Given the description of an element on the screen output the (x, y) to click on. 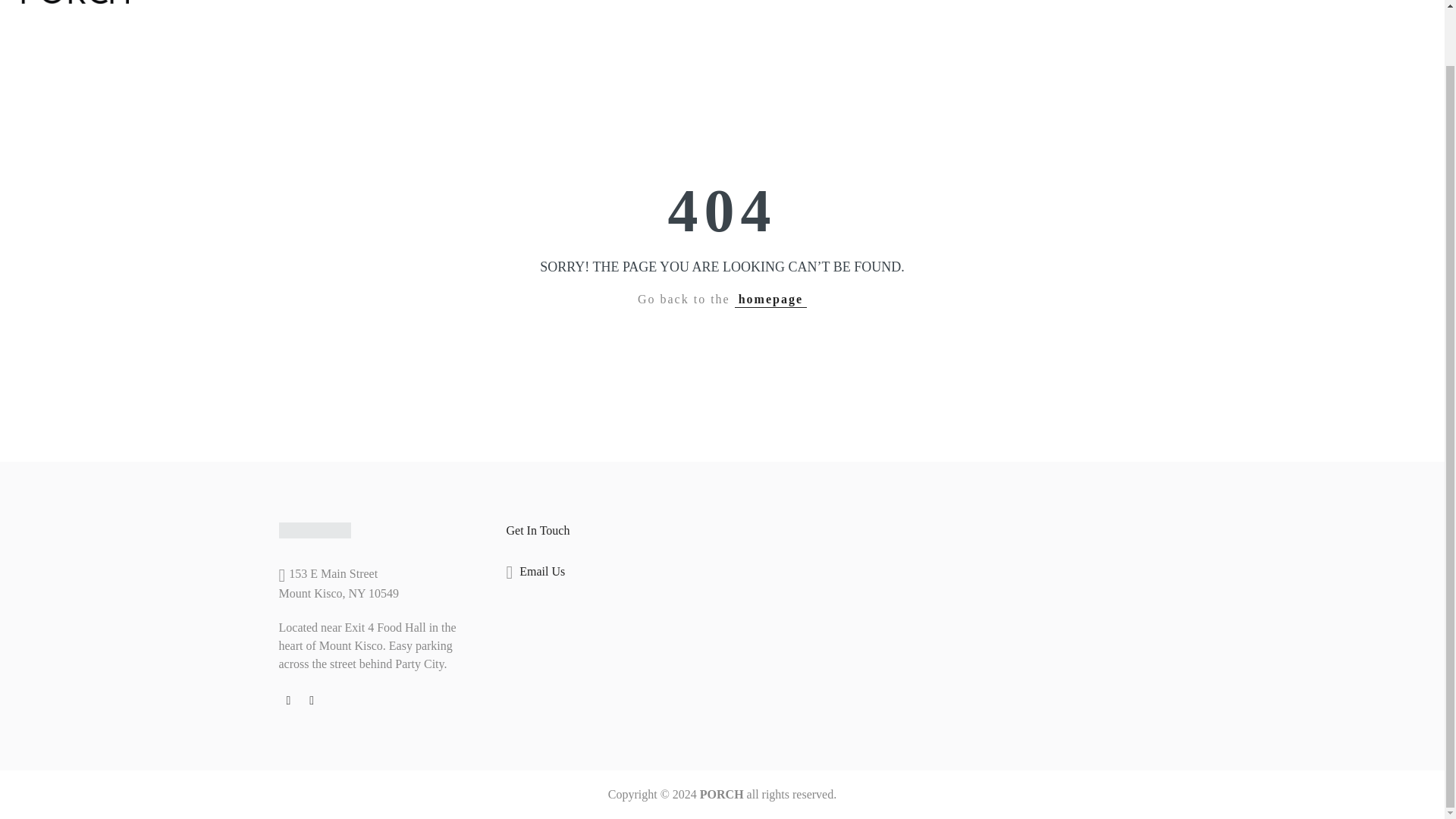
homepage (770, 299)
Email Us (541, 571)
Interior Design (682, 7)
Contact Us (771, 7)
